Given the description of an element on the screen output the (x, y) to click on. 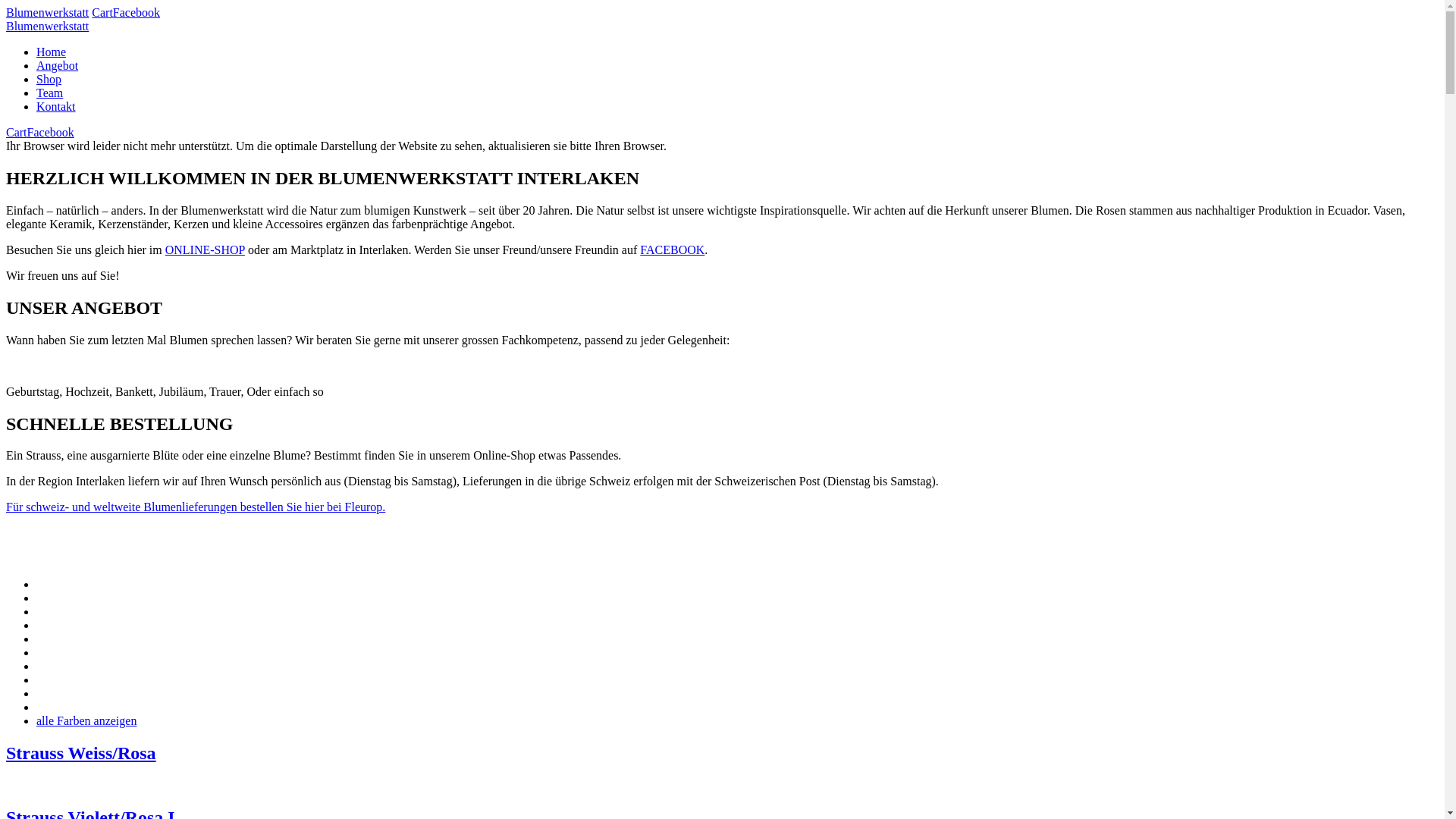
Team Element type: text (49, 92)
Angebot Element type: text (57, 65)
Blumenwerkstatt Element type: text (47, 12)
Home Element type: text (50, 51)
Strauss Weiss/Rosa Element type: text (722, 767)
Kontakt Element type: text (55, 106)
alle Farben anzeigen Element type: text (86, 720)
Facebook Element type: text (136, 12)
Facebook Element type: text (50, 131)
Blumenwerkstatt Element type: text (47, 25)
FACEBOOK Element type: text (672, 249)
ONLINE-SHOP Element type: text (204, 249)
Cart Element type: text (101, 12)
Cart Element type: text (16, 131)
Shop Element type: text (48, 78)
